Given the description of an element on the screen output the (x, y) to click on. 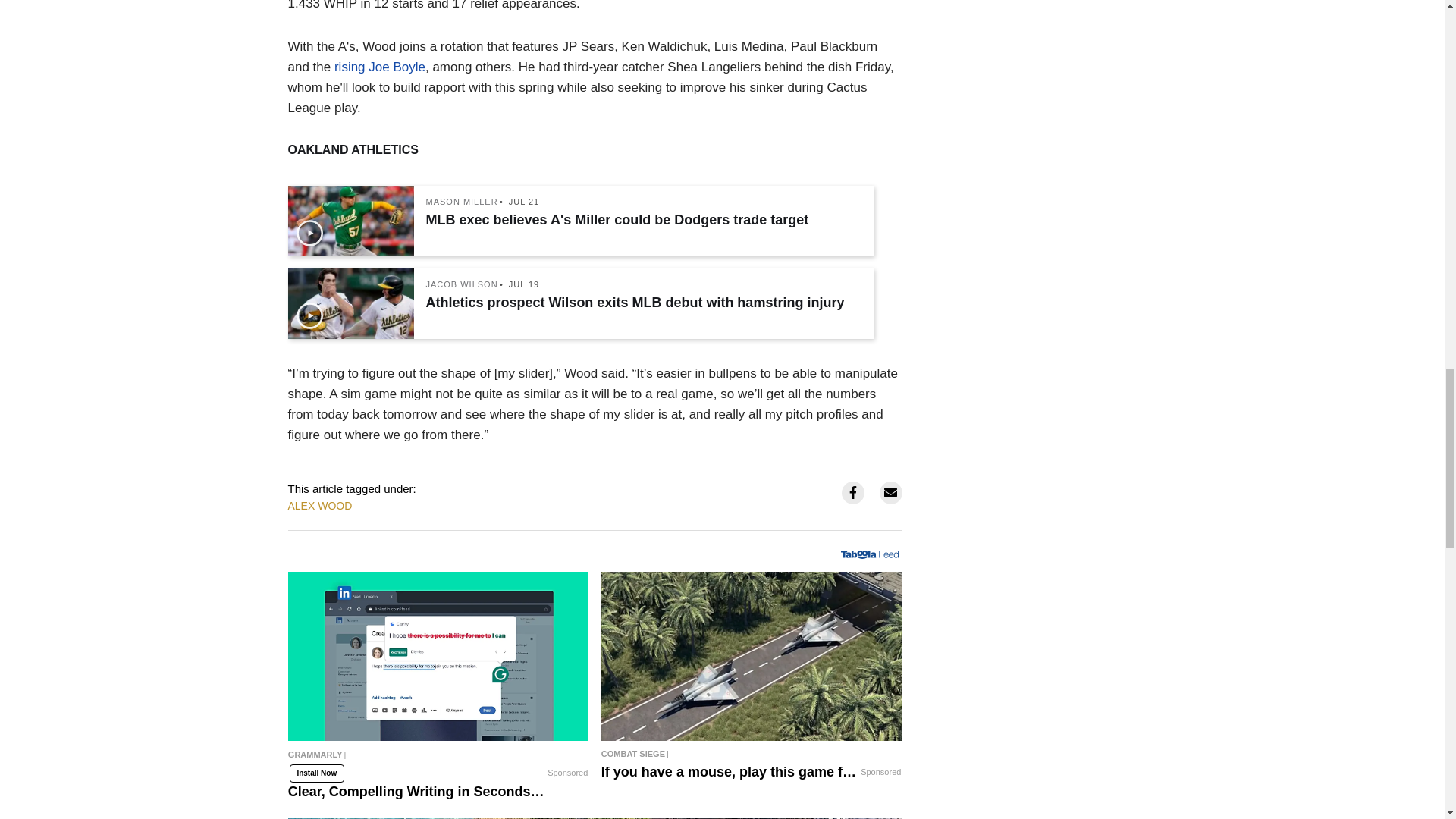
Clear, Compelling Writing in Seconds With This Desktop App (438, 656)
Clear, Compelling Writing in Seconds With This Desktop App (438, 760)
MASON MILLER (461, 202)
rising Joe Boyle (379, 66)
MLB exec believes A's Miller could be Dodgers trade target (642, 219)
